Given the description of an element on the screen output the (x, y) to click on. 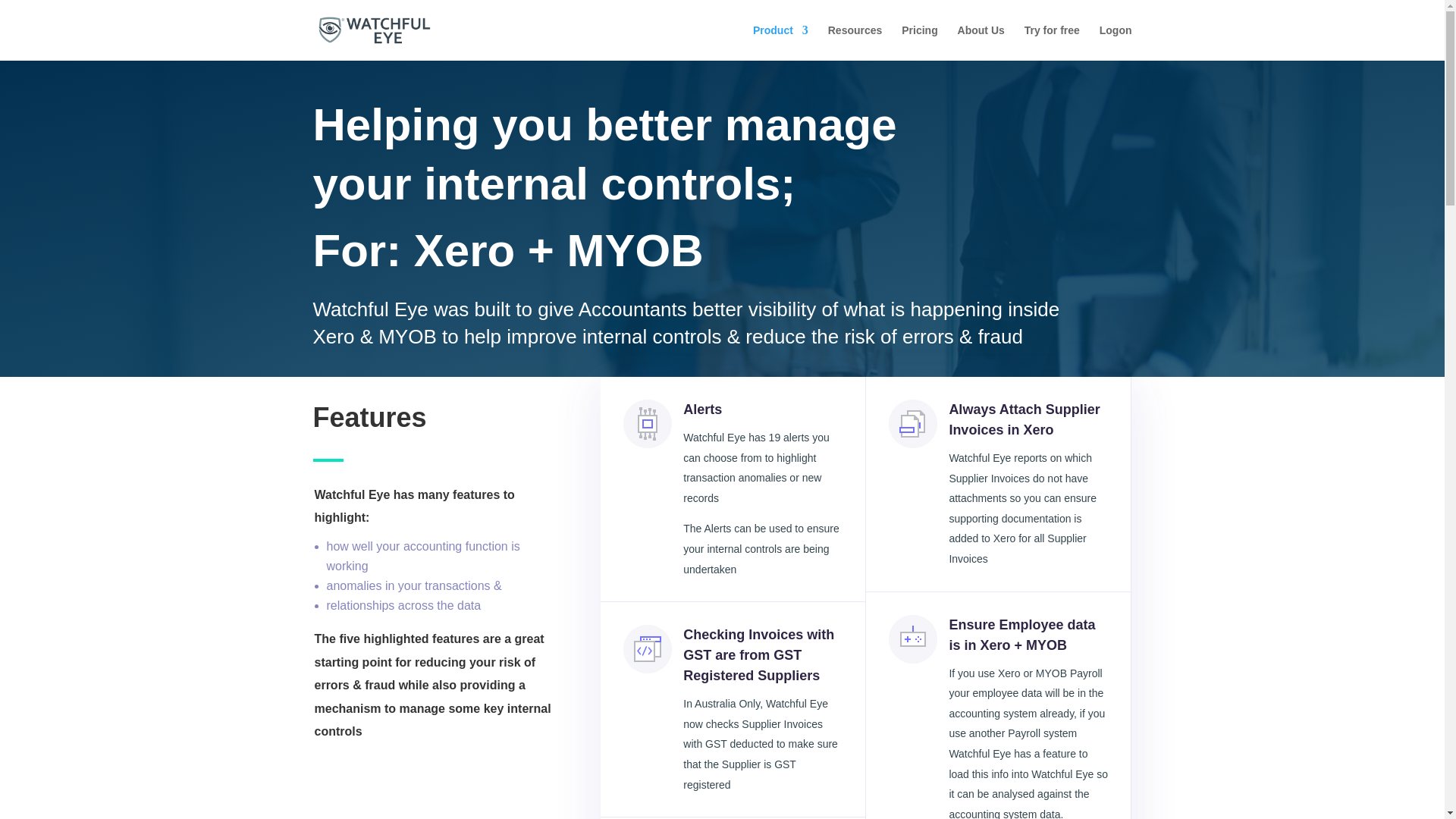
Alerts (702, 409)
Checking Invoices with GST are from GST Registered Suppliers (758, 655)
Resources (855, 42)
Always Attach Supplier Invoices in Xero (1024, 419)
About Us (981, 42)
Try for free (1052, 42)
Logon (1115, 42)
Product (780, 42)
Pricing (919, 42)
